Given the description of an element on the screen output the (x, y) to click on. 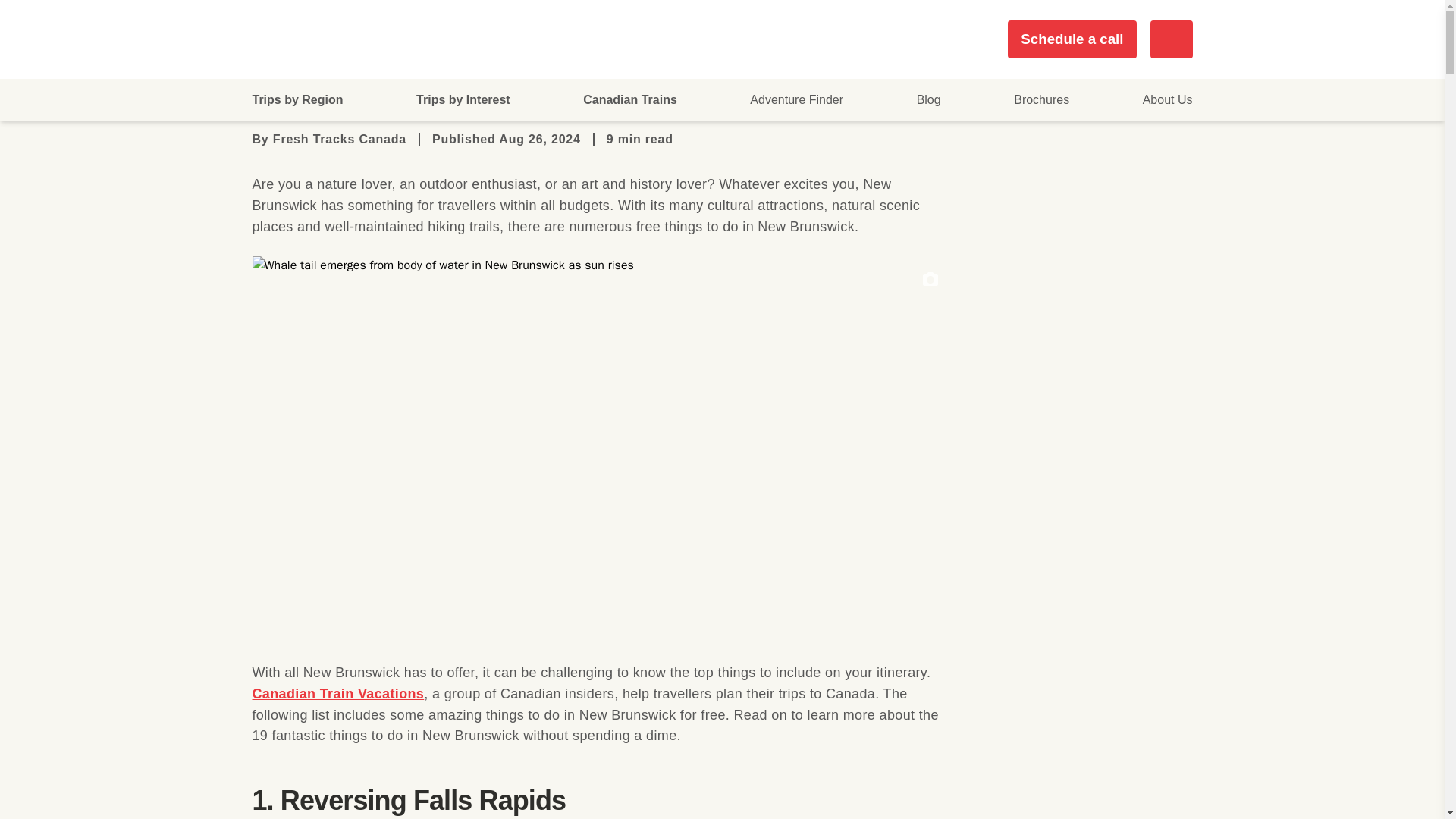
Home (268, 27)
Schedule a call (1072, 39)
Trips by Region (296, 99)
Brochures (1040, 99)
Canadian Trains (630, 99)
Trips by Interest (463, 99)
Blog (928, 99)
Canadian Train Vacations (337, 693)
About Us (1167, 99)
Adventure Finder (796, 99)
